Given the description of an element on the screen output the (x, y) to click on. 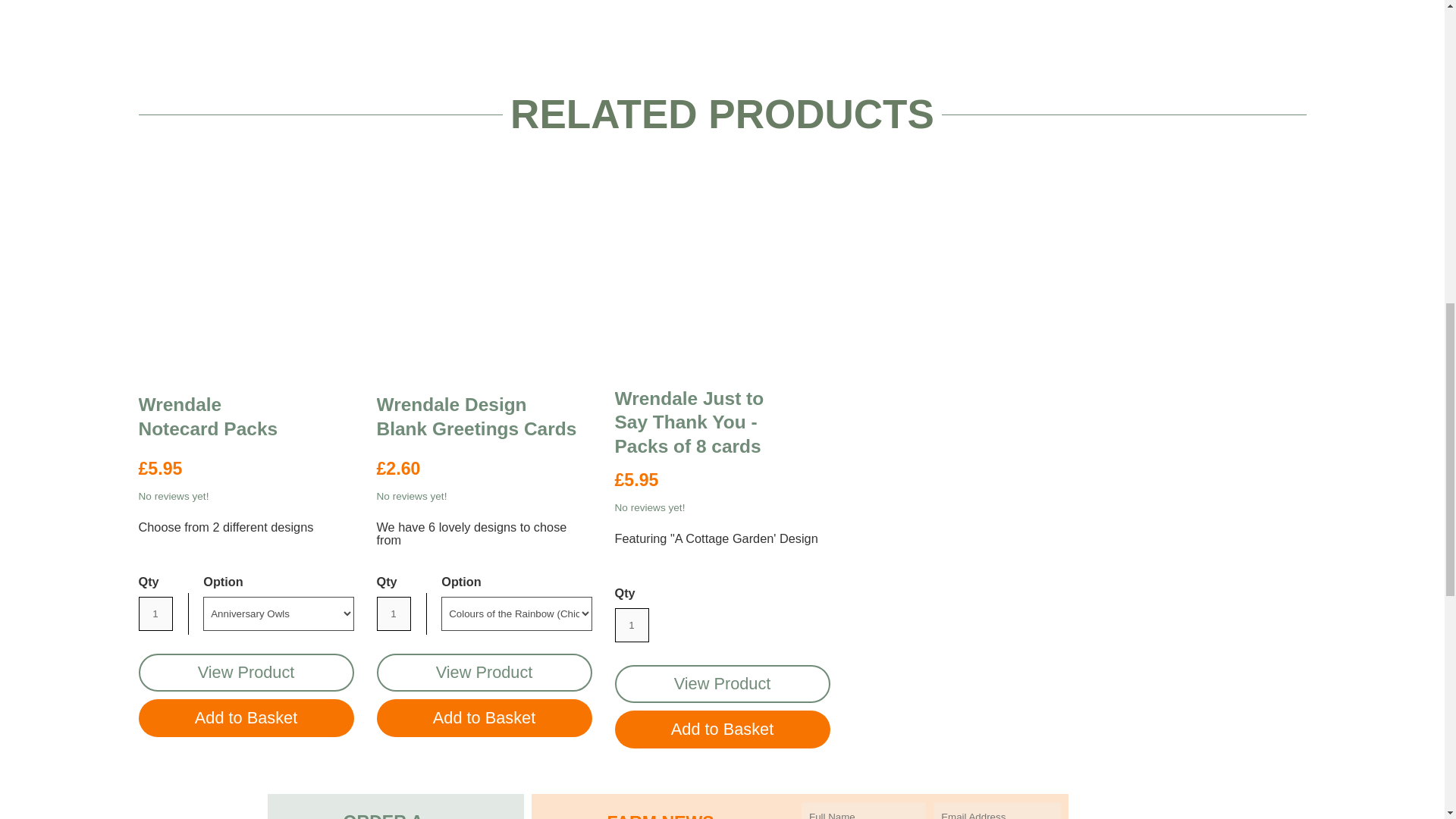
1 (154, 612)
Add to Basket (245, 718)
1 (392, 612)
Add to Basket (483, 718)
1 (630, 625)
Add to Basket (721, 729)
